Given the description of an element on the screen output the (x, y) to click on. 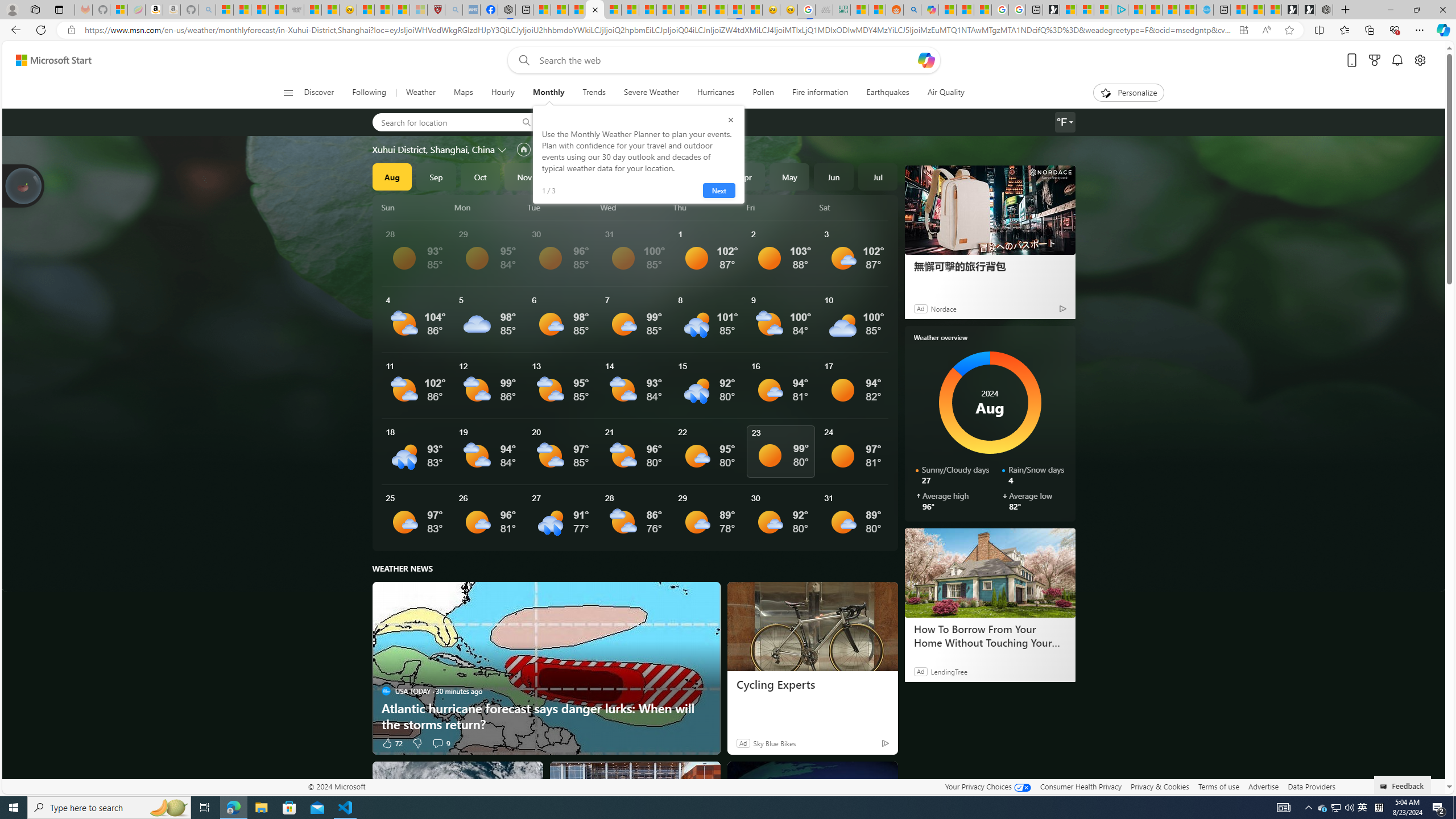
Fire information (820, 92)
Privacy & Cookies (1160, 786)
Class: feedback_link_icon-DS-EntryPoint1-1 (1384, 786)
Microsoft Copilot in Bing (929, 9)
Trends (593, 92)
Xuhui District, Shanghai, China (433, 149)
